Given the description of an element on the screen output the (x, y) to click on. 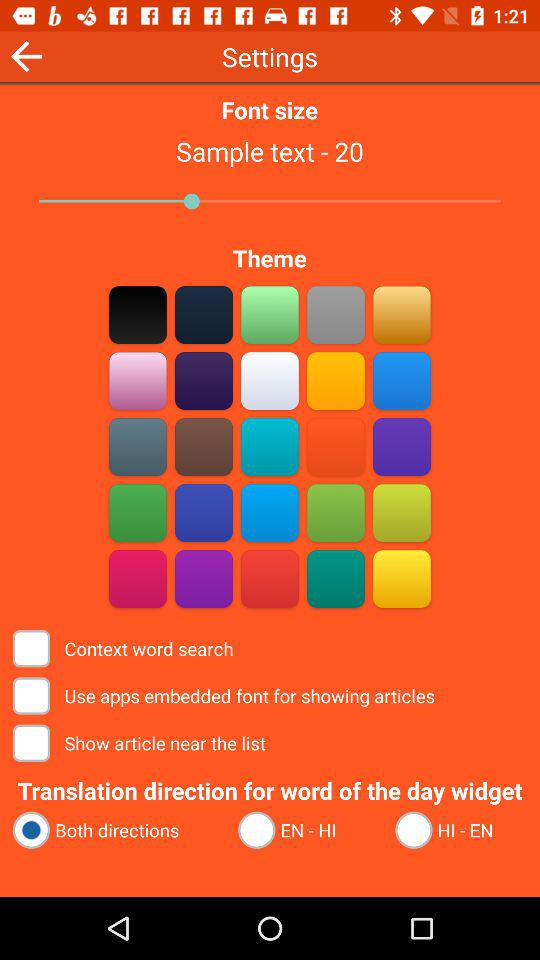
select green theme (335, 578)
